Given the description of an element on the screen output the (x, y) to click on. 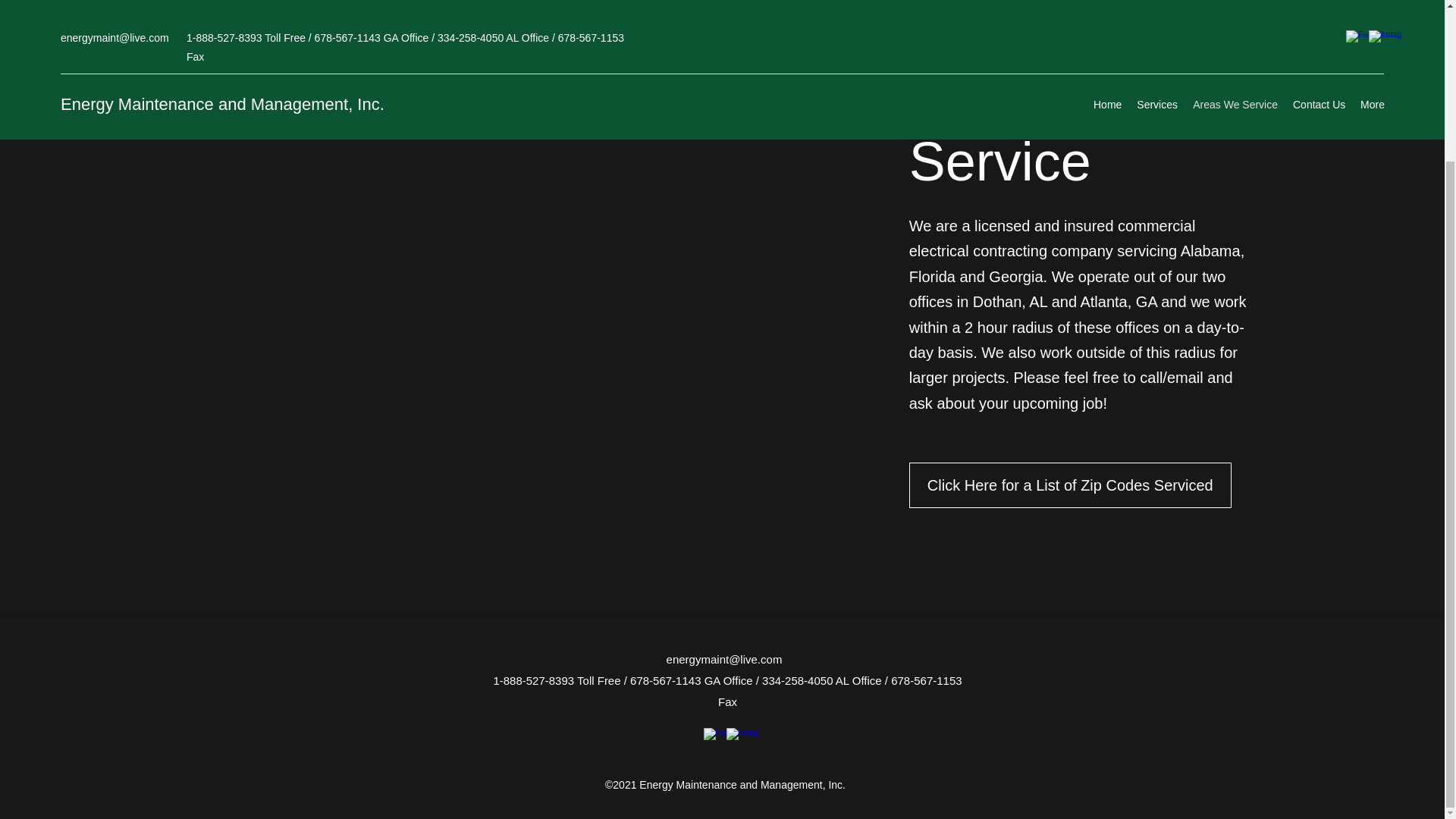
Click Here for a List of Zip Codes Serviced (1069, 484)
